Given the description of an element on the screen output the (x, y) to click on. 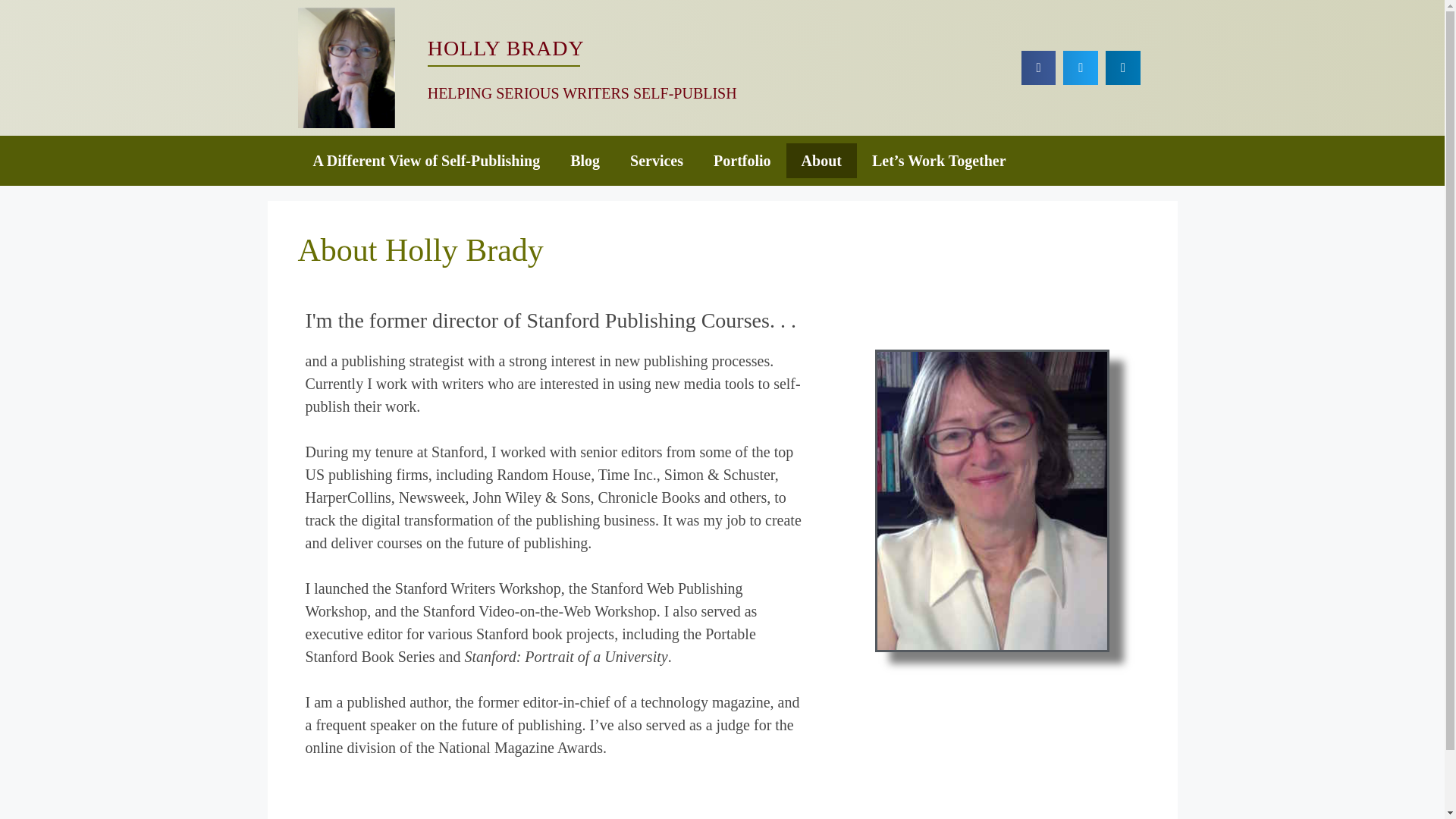
Services (656, 160)
A Different View of Self-Publishing (425, 160)
Portfolio (742, 160)
About (821, 160)
Blog (584, 160)
